Given the description of an element on the screen output the (x, y) to click on. 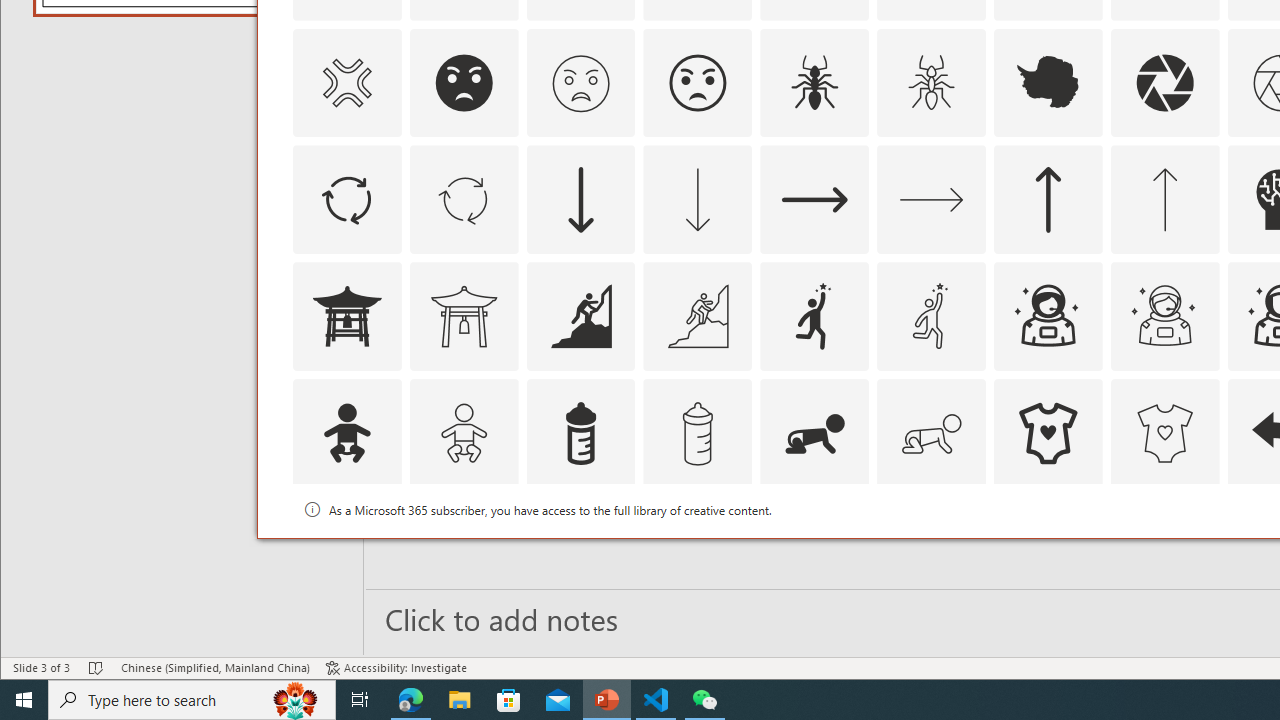
AutomationID: Icons_ArrowCircle (346, 200)
Start (24, 699)
AutomationID: Icons_Baby (346, 434)
AutomationID: Icons_BabyBottle_M (697, 434)
Accessibility Checker Accessibility: Investigate (395, 668)
AutomationID: Icons_BabyCrawling (815, 434)
PowerPoint - 1 running window (607, 699)
AutomationID: Icons_Badge3_M (815, 550)
